Given the description of an element on the screen output the (x, y) to click on. 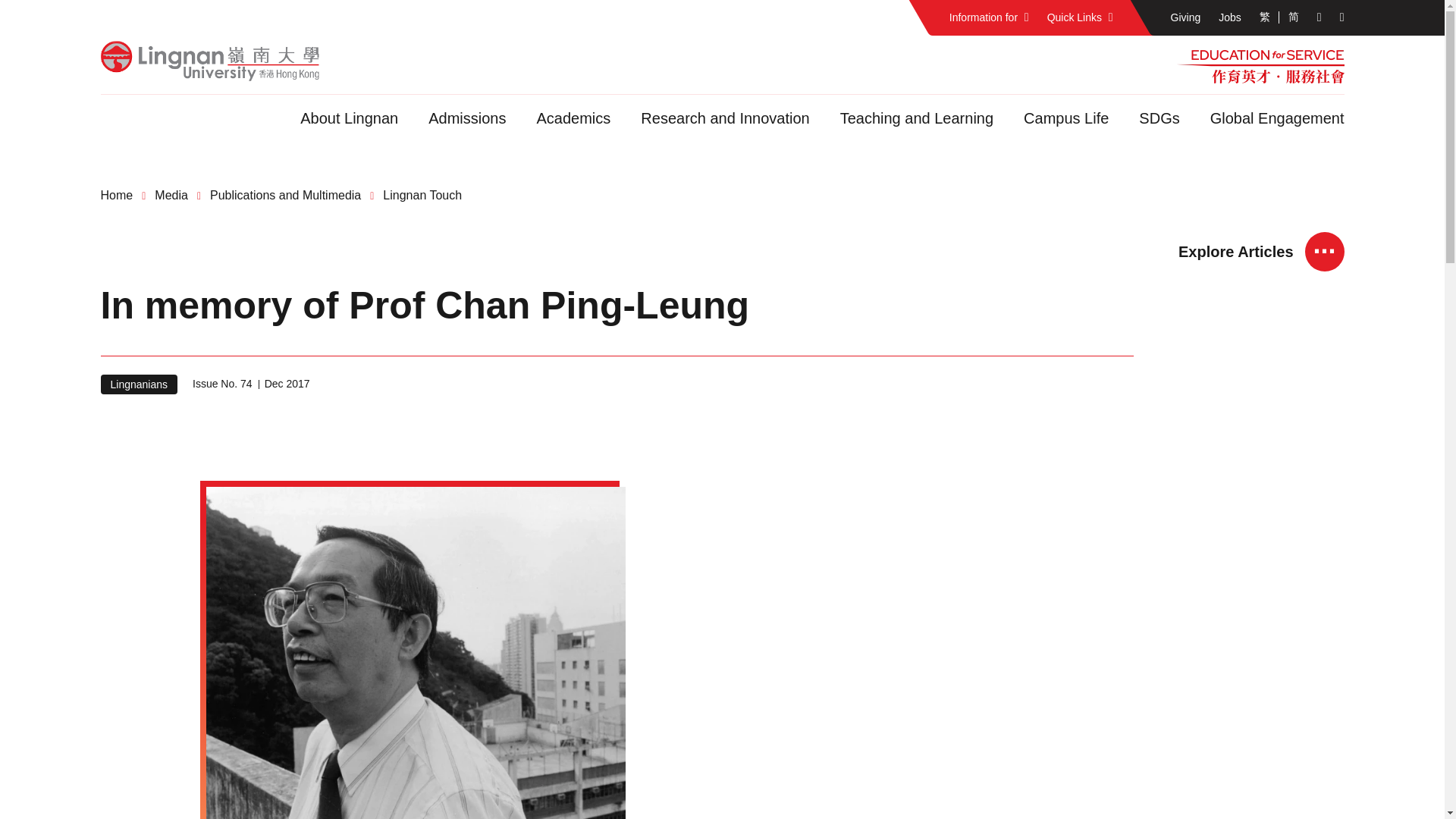
Information for (989, 18)
About Lingnan (348, 117)
Quick Links (1079, 18)
